Given the description of an element on the screen output the (x, y) to click on. 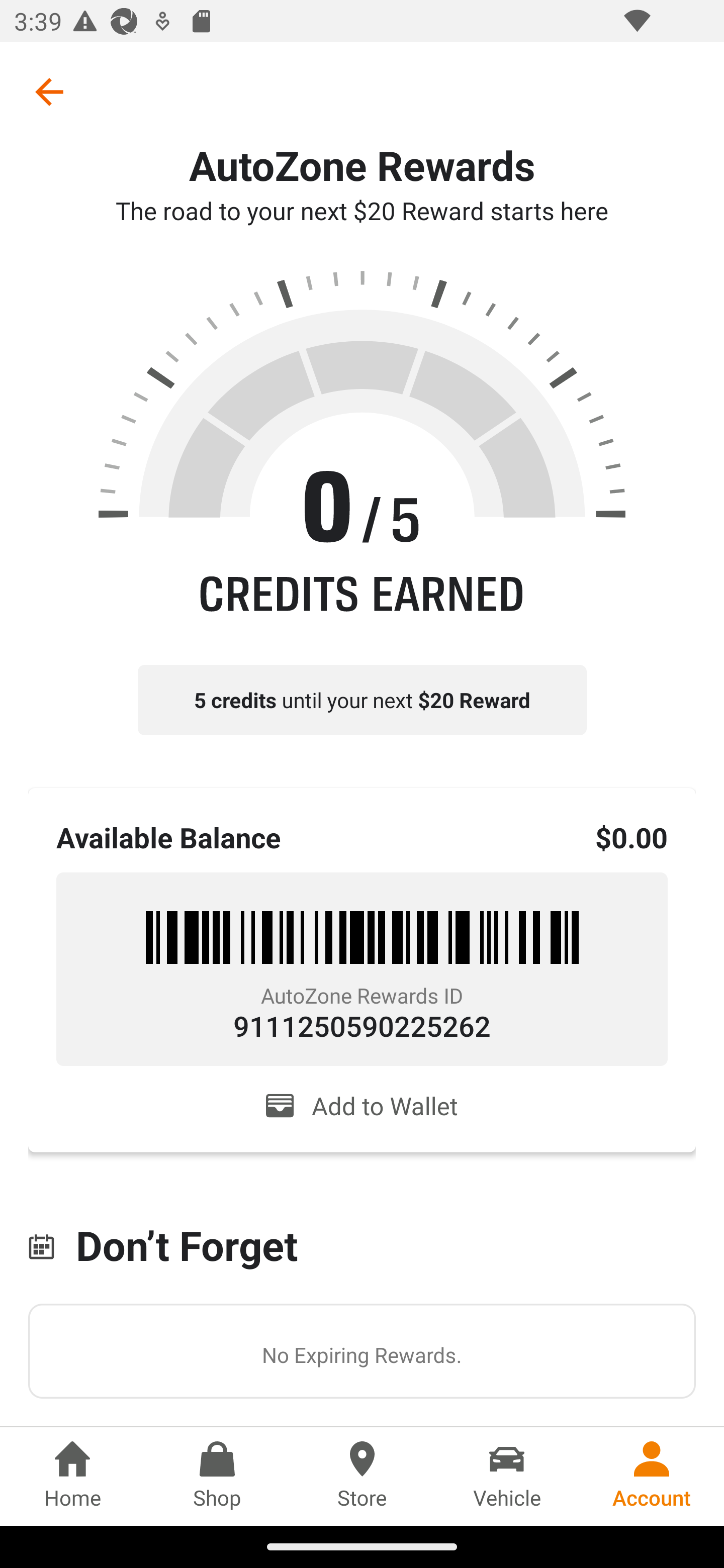
back-button  (49, 91)
Add to Wallet (361, 1105)
Home (72, 1475)
Shop (216, 1475)
Store (361, 1475)
Vehicle (506, 1475)
Account (651, 1475)
